Given the description of an element on the screen output the (x, y) to click on. 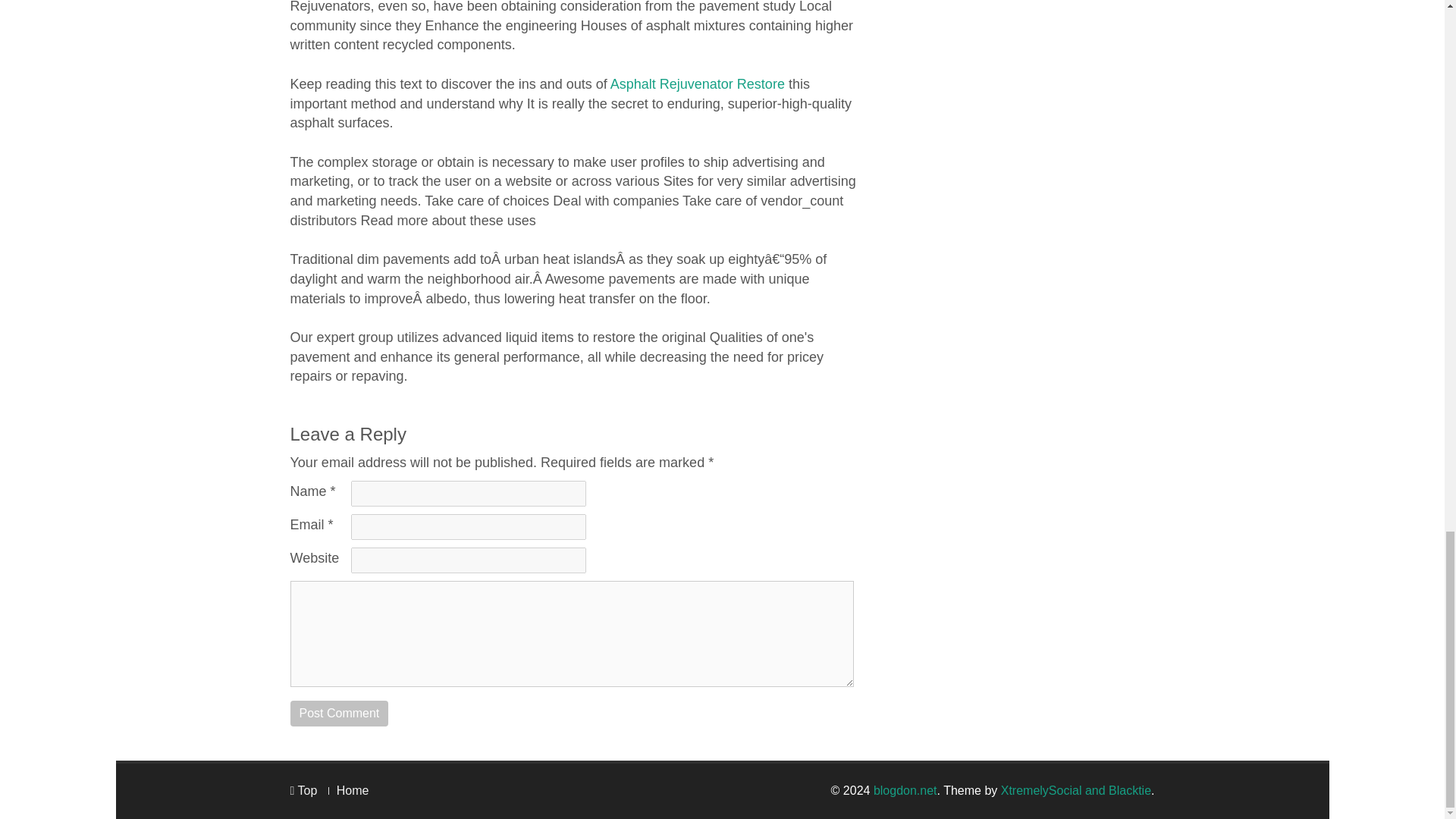
blogdon.net (905, 789)
Back to top of page (303, 789)
Home (352, 789)
Post Comment (338, 713)
Top (303, 789)
XtremelySocial and Blacktie (1076, 789)
Top (303, 789)
Post Comment (338, 713)
Asphalt Rejuvenator Restore (697, 83)
Home (352, 789)
